Given the description of an element on the screen output the (x, y) to click on. 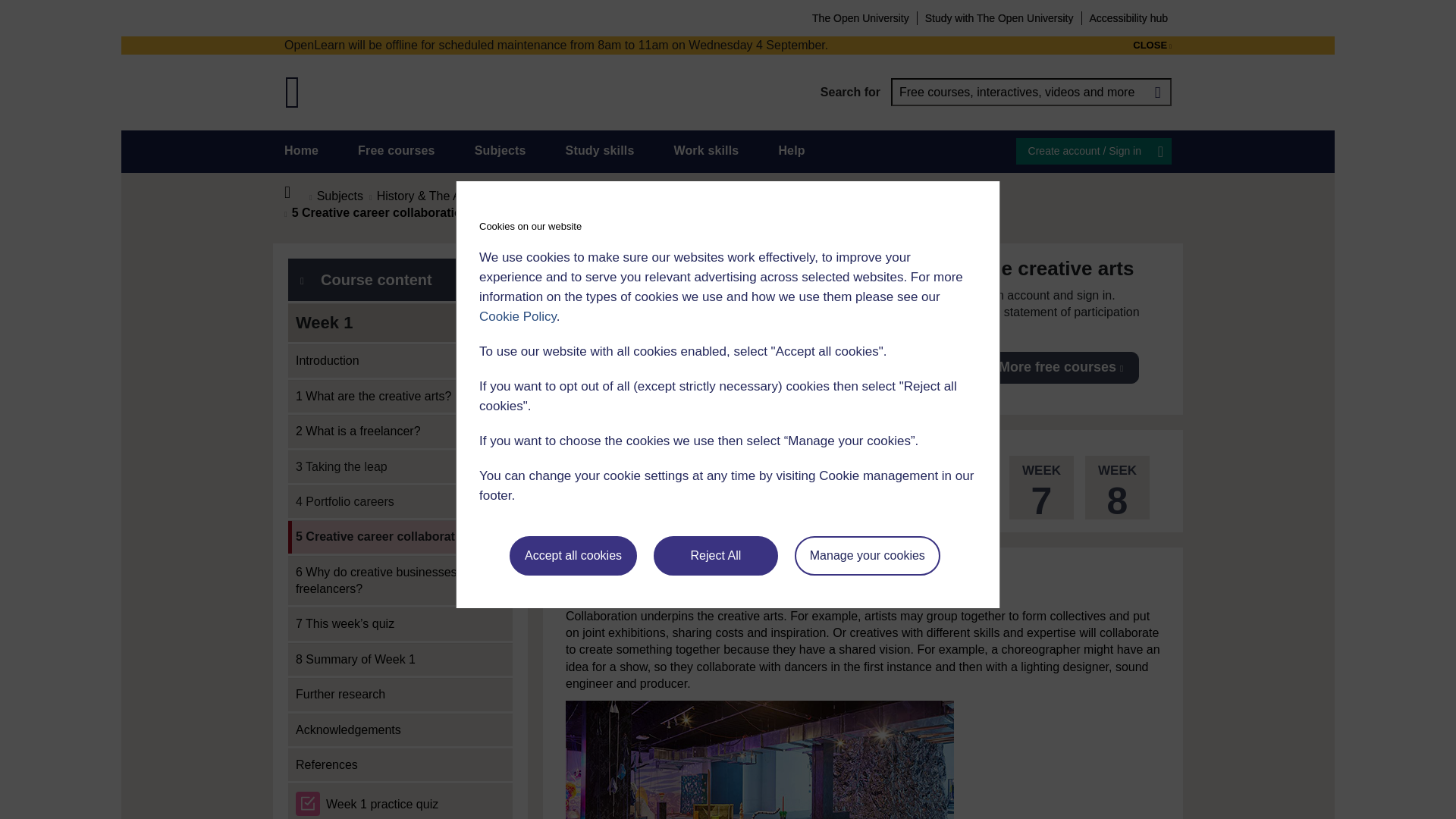
Free courses (396, 150)
Home (300, 150)
Work skills (705, 150)
Search (1157, 91)
The Open University (860, 17)
Home (295, 193)
CLOSE (1152, 45)
Help (791, 150)
Study with The Open University (999, 17)
Accessibility hub (1129, 17)
